Given the description of an element on the screen output the (x, y) to click on. 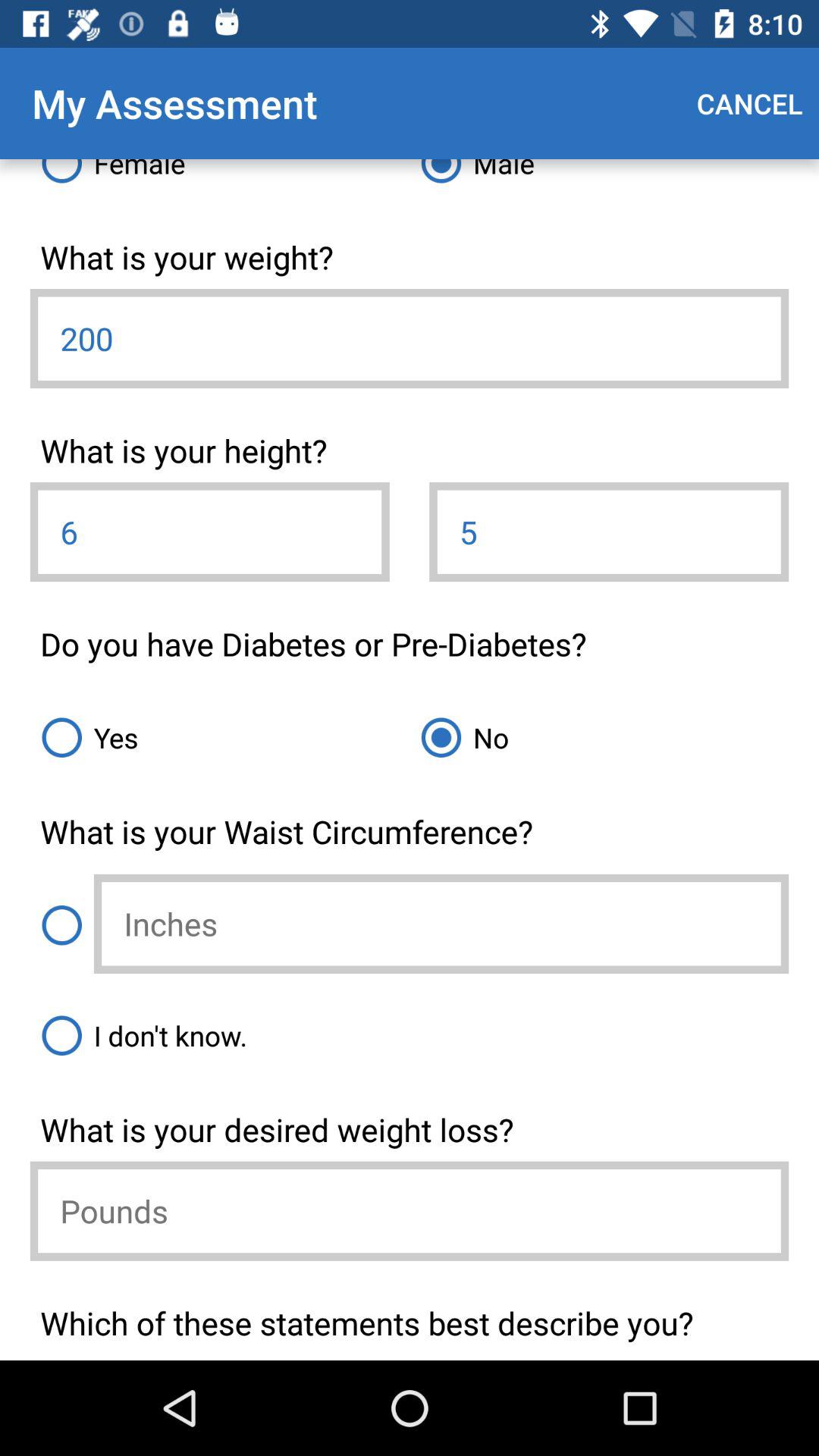
pounds (409, 1210)
